Given the description of an element on the screen output the (x, y) to click on. 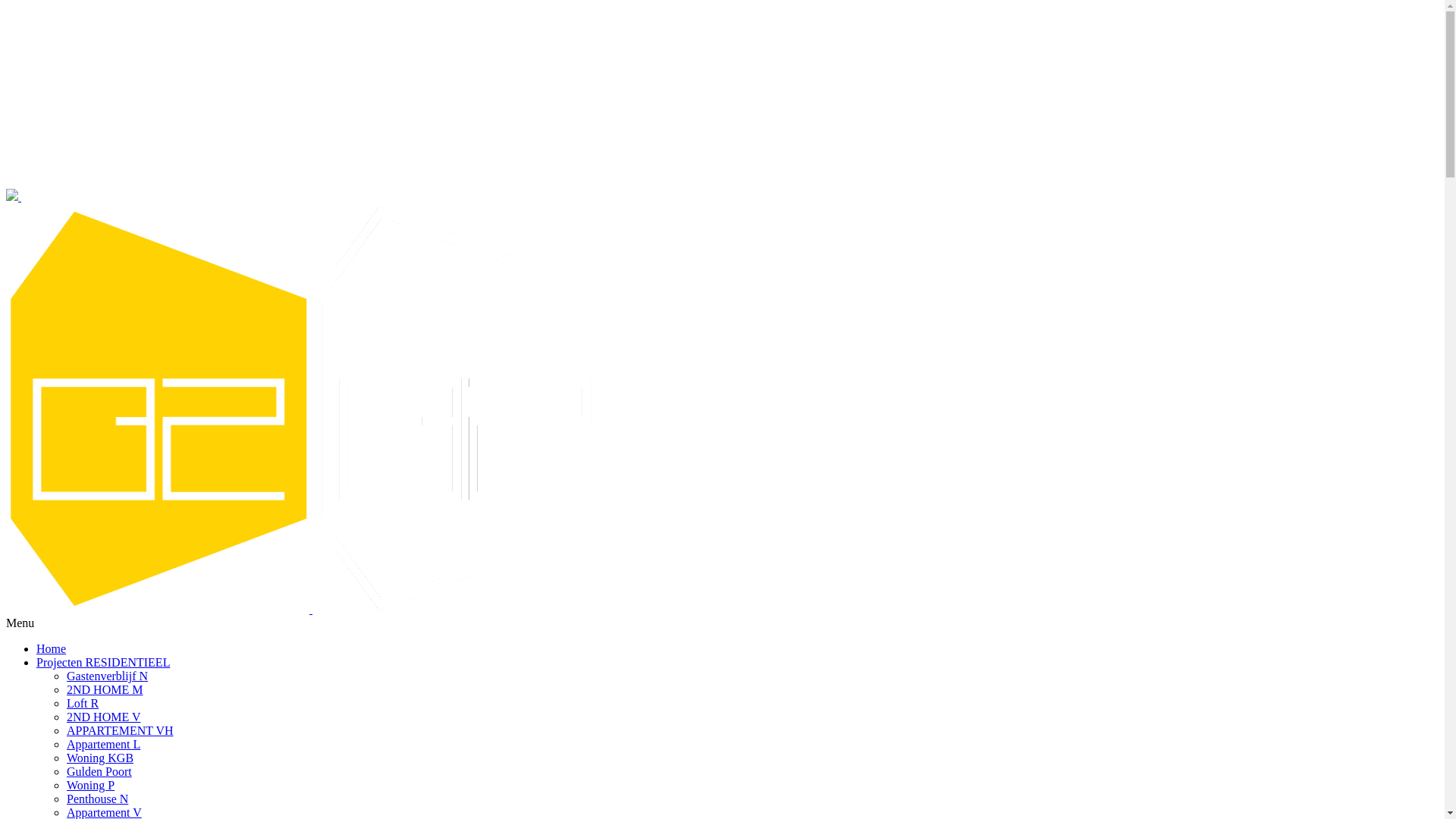
Projecten RESIDENTIEEL Element type: text (102, 661)
Gastenverblijf N Element type: text (106, 675)
Home Element type: text (50, 648)
2ND HOME V Element type: text (103, 716)
Gulden Poort Element type: text (98, 771)
Menu Element type: text (20, 622)
2ND HOME M Element type: text (104, 689)
Woning KGB Element type: text (99, 757)
Woning P Element type: text (90, 784)
Penthouse N Element type: text (97, 798)
Loft R Element type: text (82, 702)
APPARTEMENT VH Element type: text (119, 730)
Appartement L Element type: text (103, 743)
